Given the description of an element on the screen output the (x, y) to click on. 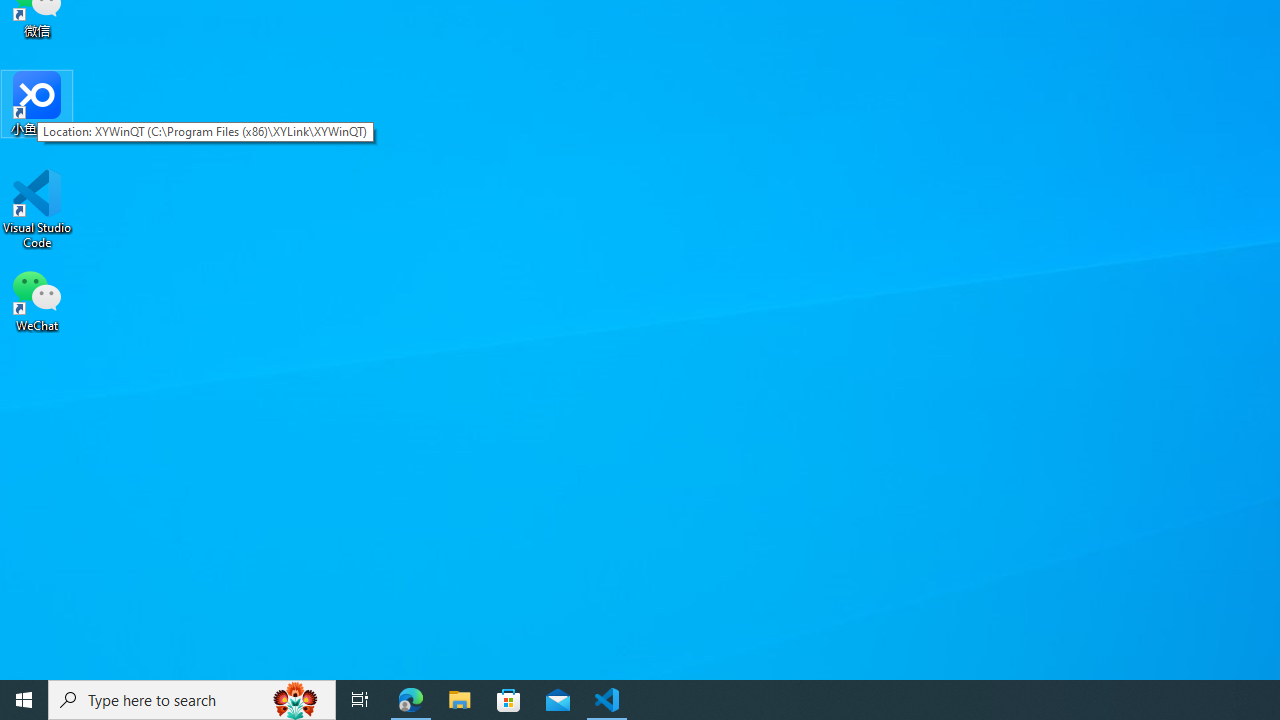
WeChat (37, 299)
Visual Studio Code (37, 209)
